Given the description of an element on the screen output the (x, y) to click on. 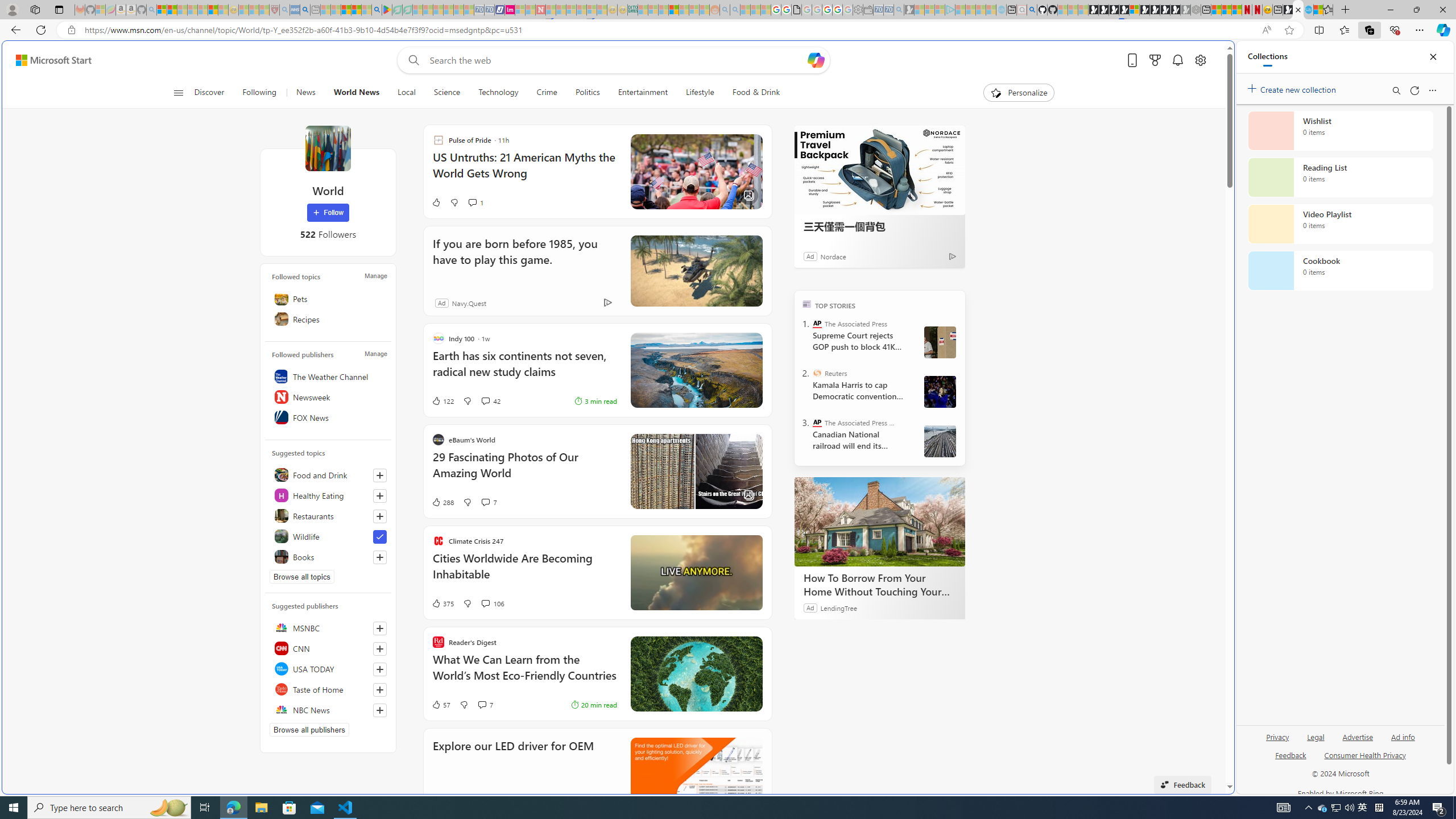
 Canada Railroads Unions (940, 441)
The Associated Press (816, 323)
LendingTree (838, 607)
57 Like (440, 704)
utah sues federal government - Search (304, 9)
